Given the description of an element on the screen output the (x, y) to click on. 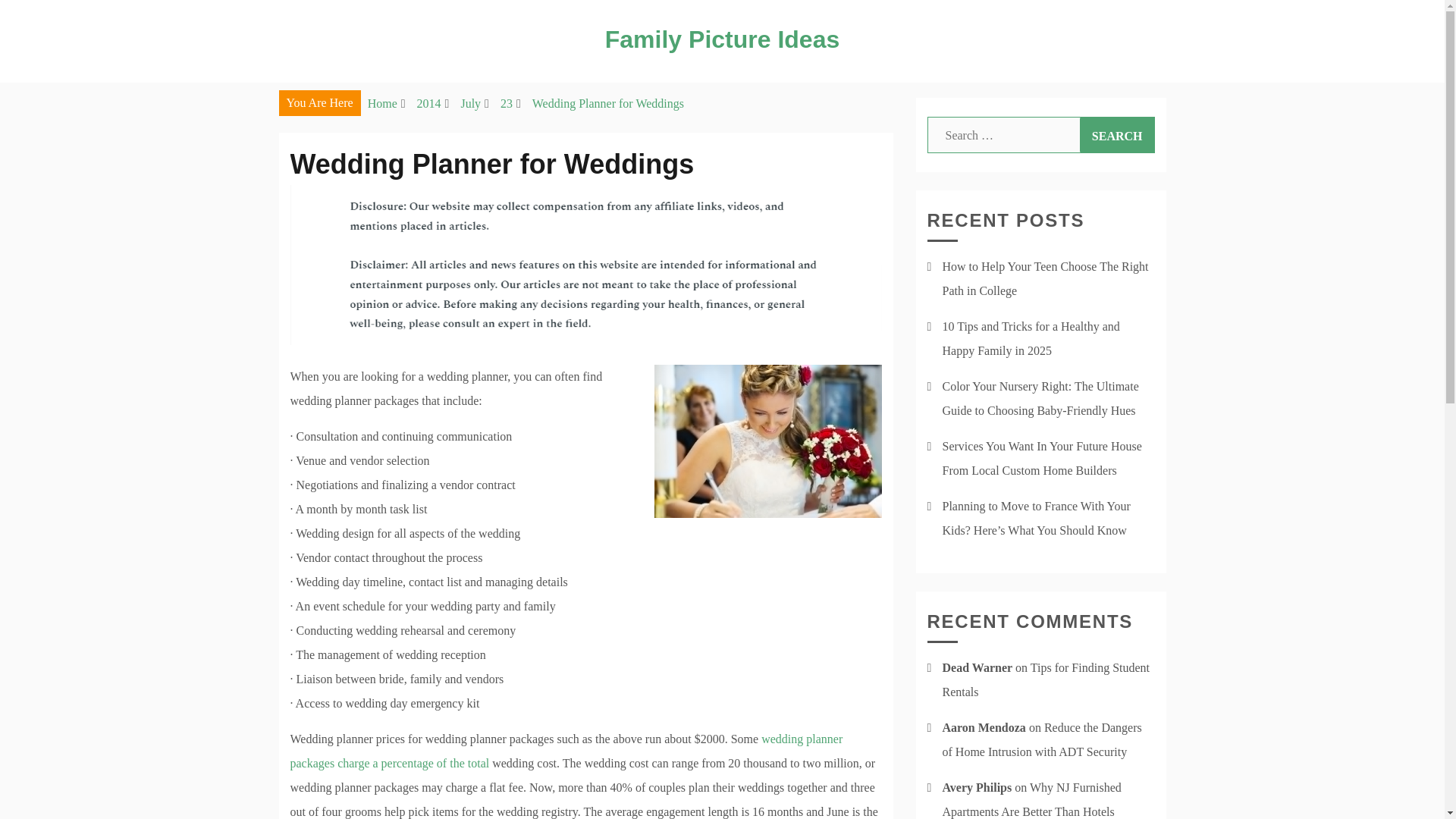
Family Picture Ideas (722, 39)
More things online (566, 750)
Reduce the Dangers of Home Intrusion with ADT Security (1041, 739)
10 Tips and Tricks for a Healthy and Happy Family in 2025 (1030, 338)
23 (506, 103)
Tips for Finding Student Rentals (1046, 679)
Wedding Planner for Weddings (608, 103)
wedding planner packages charge a percentage of the total (566, 750)
Home (382, 103)
